Given the description of an element on the screen output the (x, y) to click on. 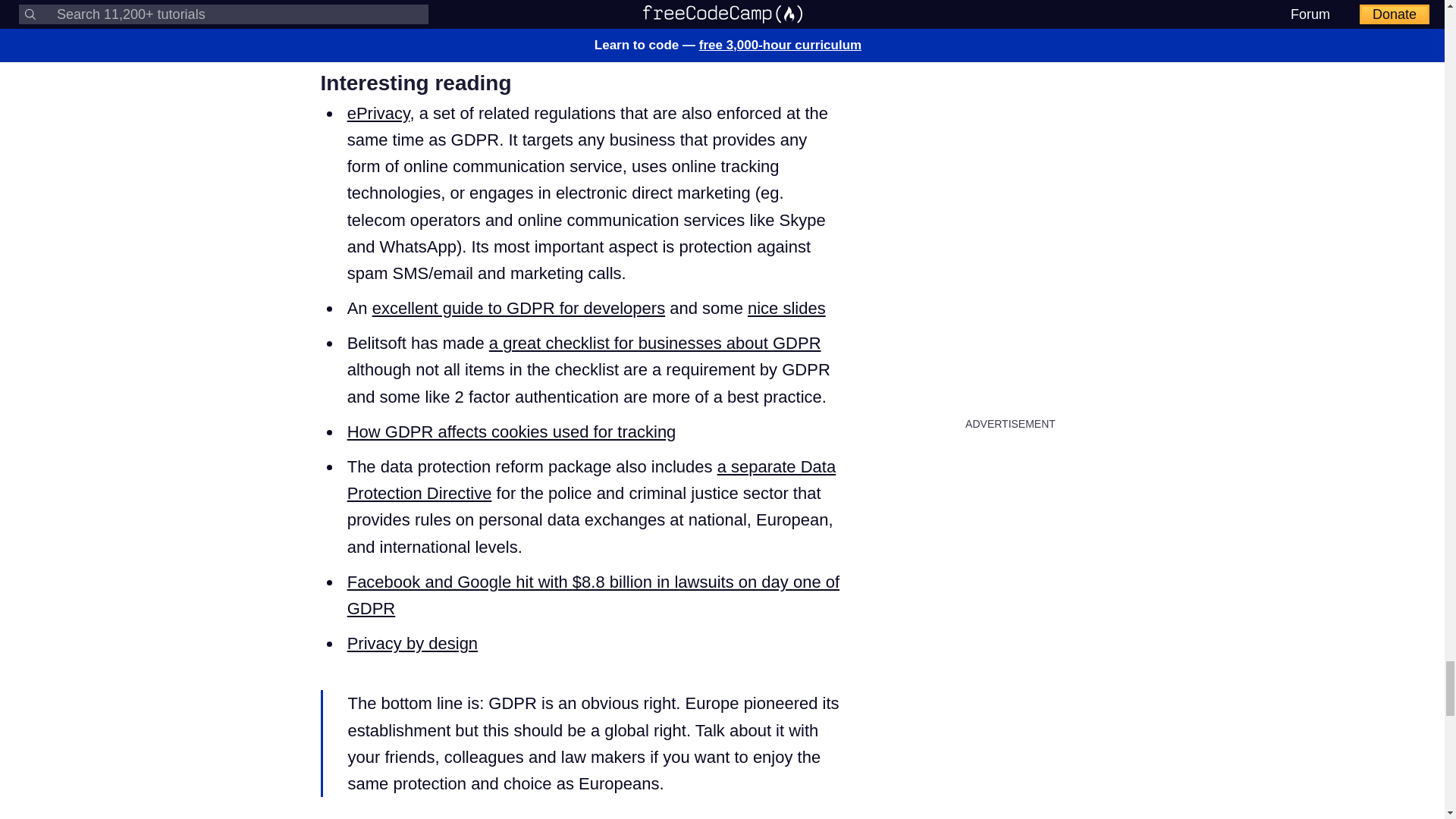
a great checklist for businesses about GDPR (655, 342)
excellent guide to GDPR for developers (518, 307)
a separate Data Protection Directive (591, 479)
nice slides (786, 307)
Data Protection Officer (431, 13)
ePrivacy (378, 113)
How GDPR affects cookies used for tracking (512, 431)
Privacy by design (412, 642)
